Given the description of an element on the screen output the (x, y) to click on. 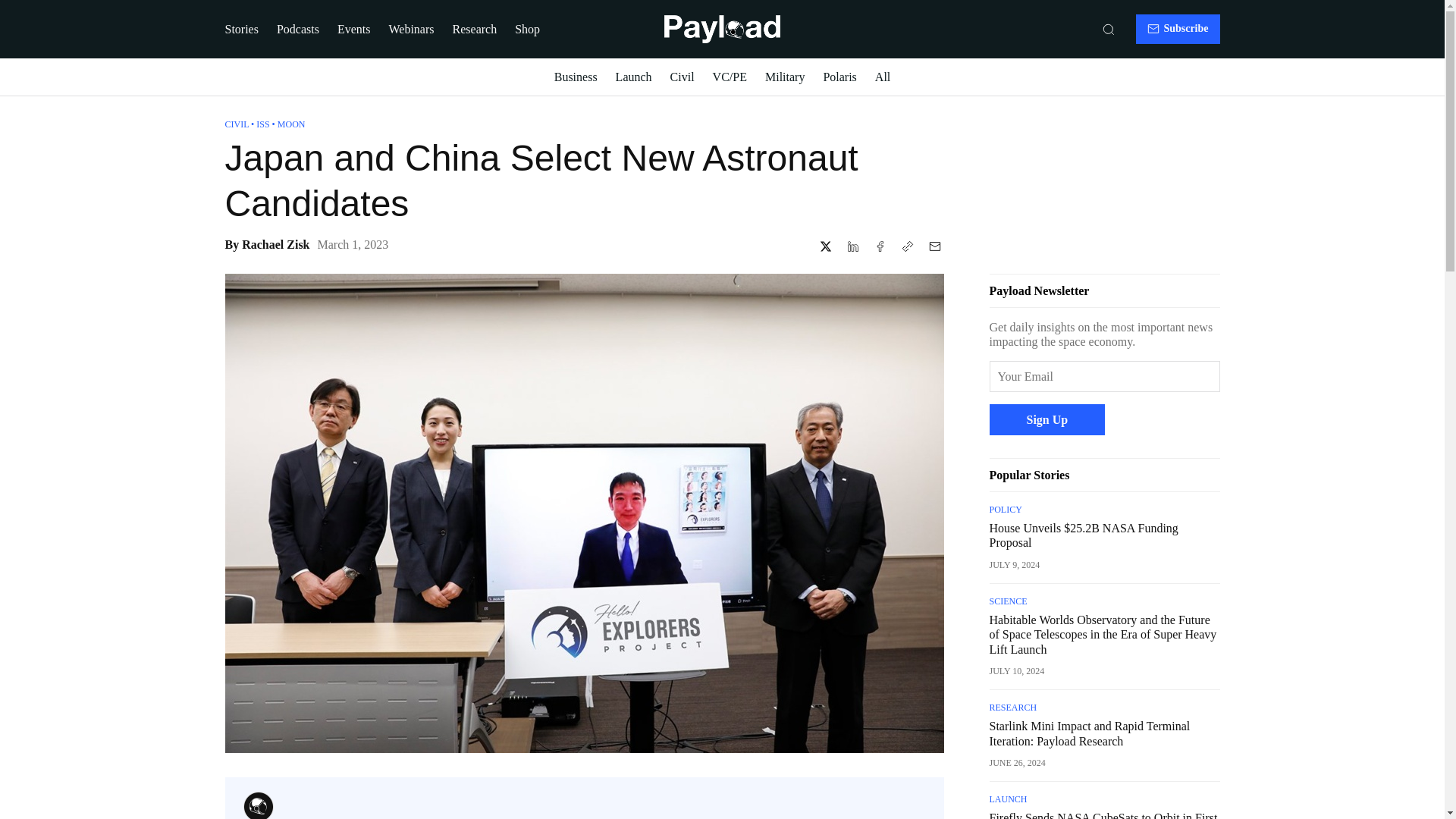
Copy to clipboard (906, 246)
Podcasts (297, 29)
Research (474, 29)
Shop (527, 29)
Webinars (410, 29)
Stories (240, 29)
Search (1108, 28)
Polaris (839, 76)
Military (785, 76)
Subscribe (1177, 28)
CIVIL (236, 123)
Events (354, 29)
Search (1108, 28)
ISS (262, 123)
Launch (633, 76)
